Given the description of an element on the screen output the (x, y) to click on. 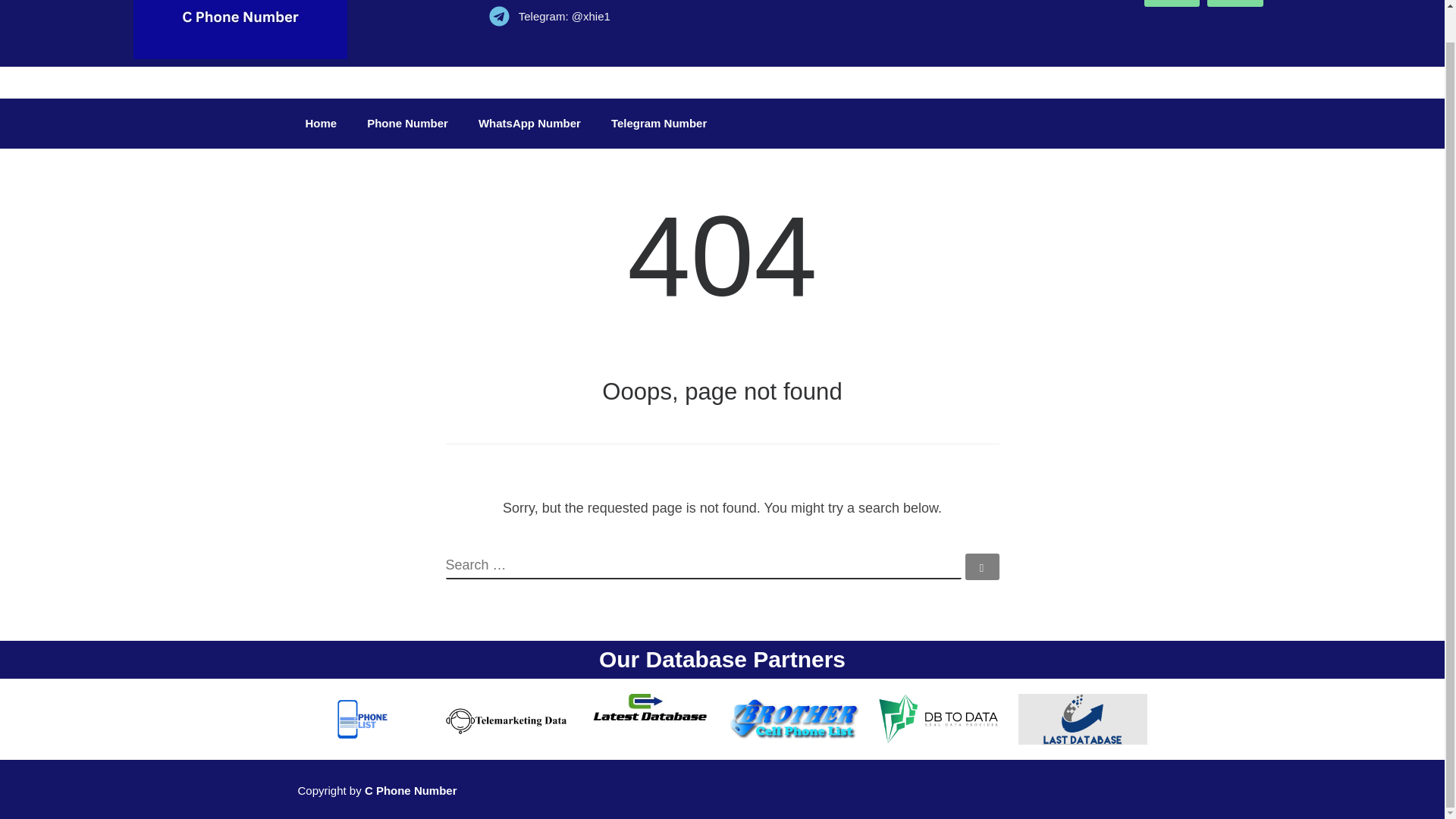
Telegram Number (658, 123)
Phone Number (407, 123)
CN (1235, 3)
EN (1171, 3)
C Phone Number (411, 789)
Home (320, 123)
WhatsApp Number (529, 123)
